Given the description of an element on the screen output the (x, y) to click on. 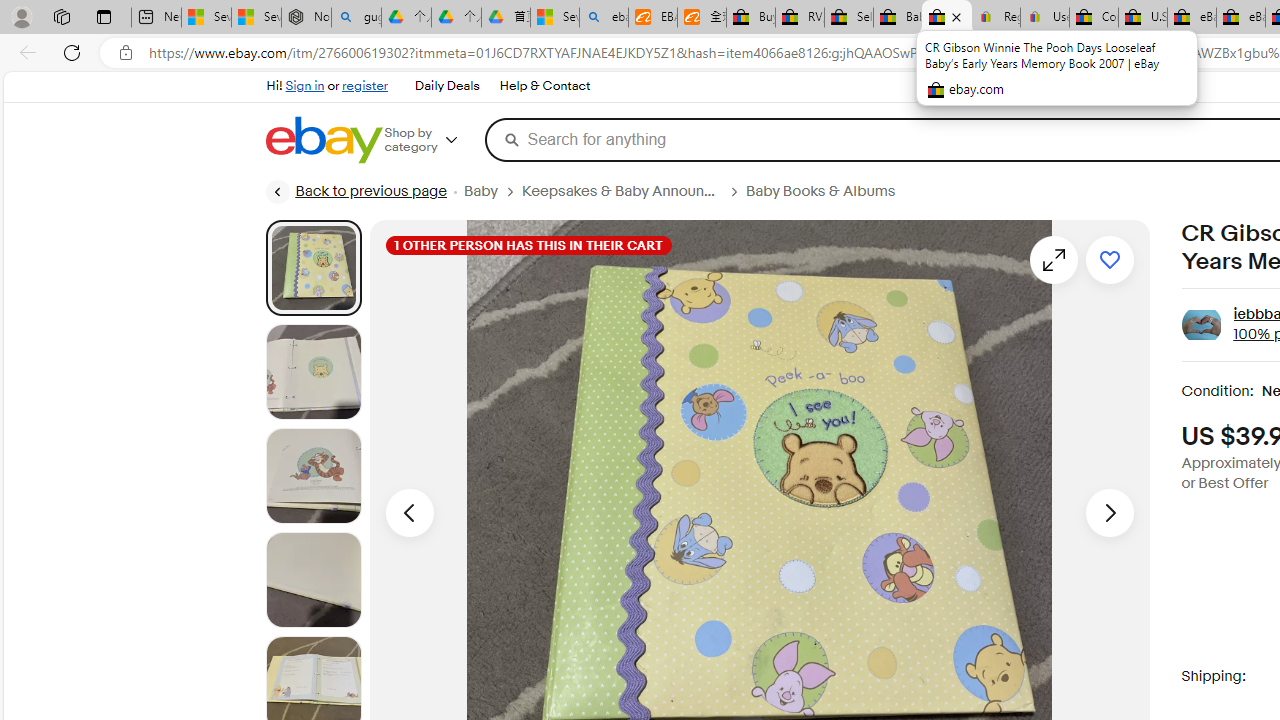
Baby (492, 191)
U.S. State Privacy Disclosures - eBay Inc. (1142, 17)
Keepsakes & Baby Announcements (620, 191)
User Privacy Notice | eBay (1044, 17)
Picture 4 of 22 (313, 579)
Picture 2 of 22 (313, 371)
eBay Home (323, 139)
register (364, 85)
